Given the description of an element on the screen output the (x, y) to click on. 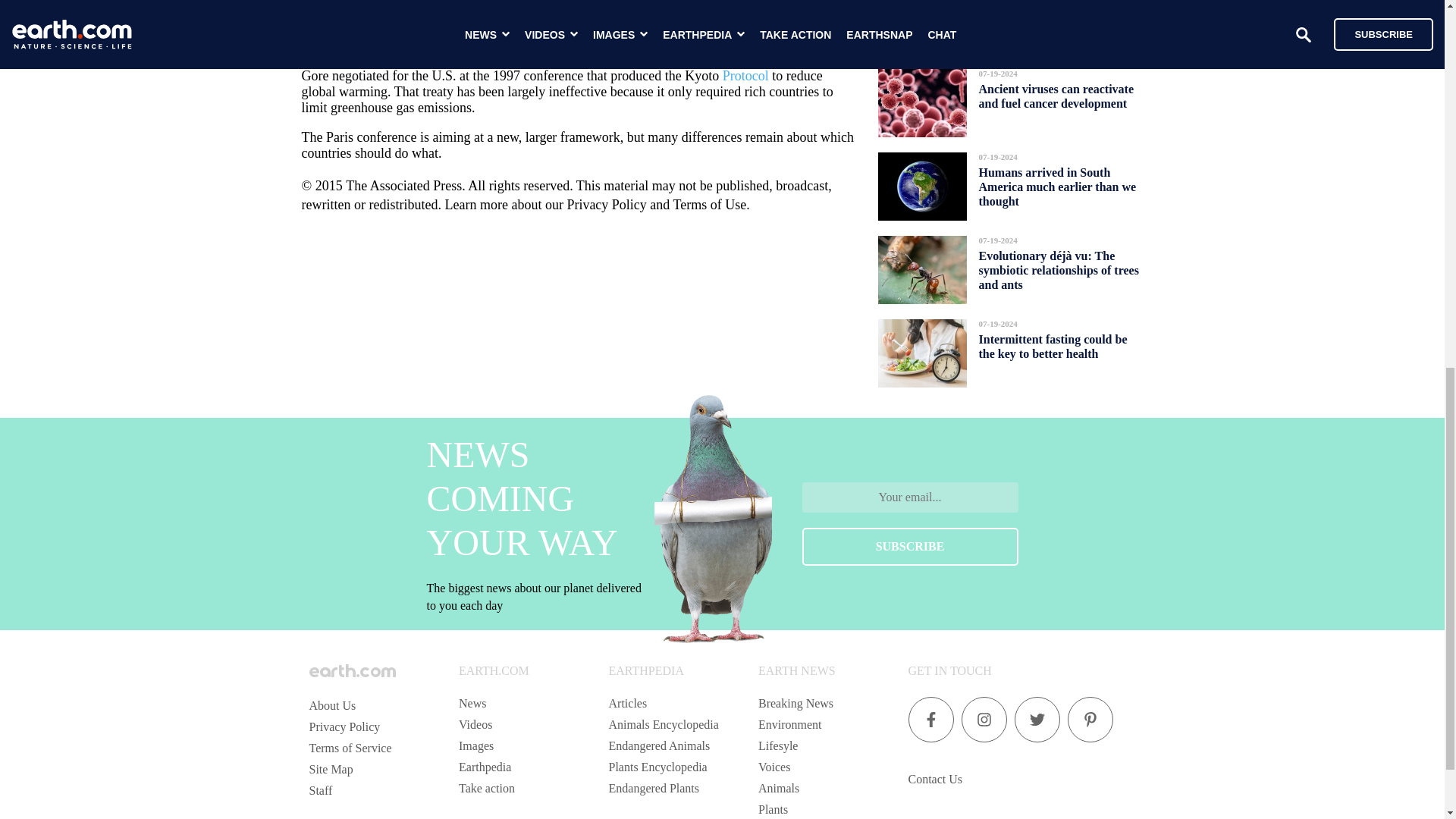
Ancient viruses can reactivate and fuel cancer development  (1056, 96)
Humans arrived in South America much earlier than we thought (1056, 186)
Protocol (745, 75)
SUBSCRIBE (909, 546)
Intermittent fasting could be the key to better health (1052, 346)
climate (321, 4)
About Us (332, 705)
Privacy Policy (344, 726)
Terms of Service (349, 748)
